Given the description of an element on the screen output the (x, y) to click on. 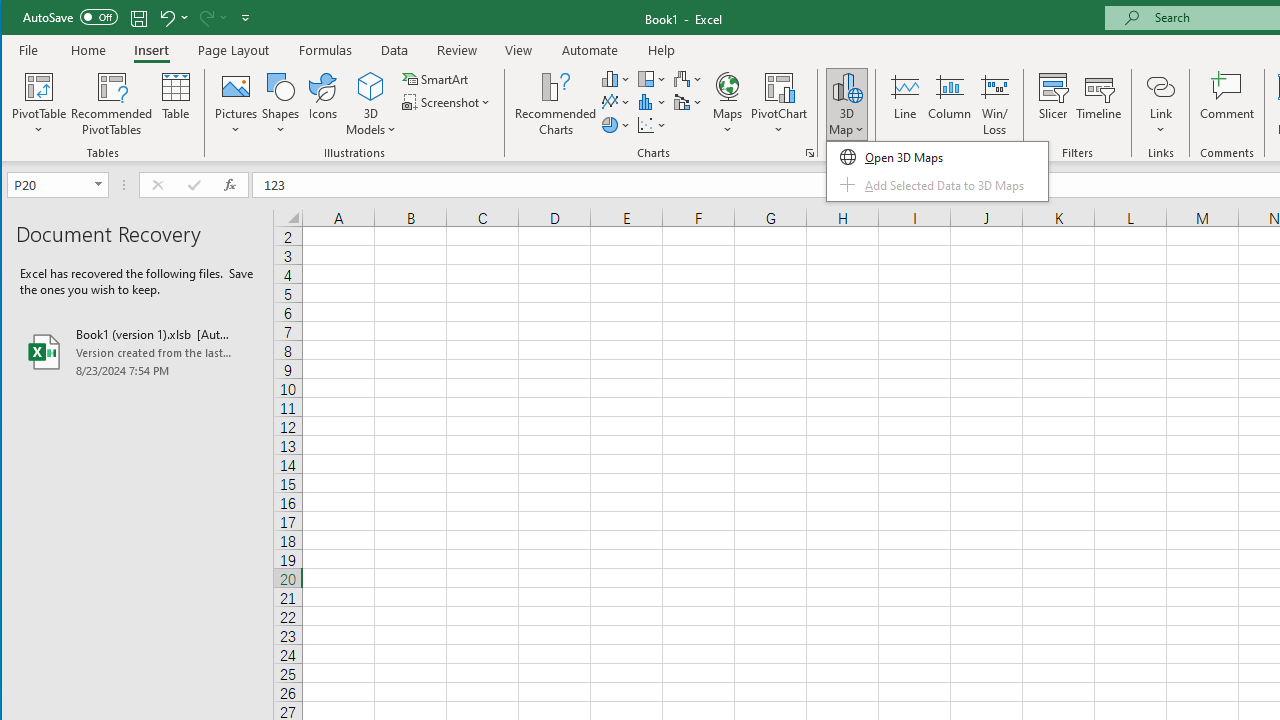
Comment (1227, 104)
Insert Scatter (X, Y) or Bubble Chart (652, 124)
PivotTable (39, 104)
Recommended PivotTables (111, 104)
Insert Statistic Chart (652, 101)
Maps (727, 104)
PivotTable (39, 86)
SmartArt... (436, 78)
